Given the description of an element on the screen output the (x, y) to click on. 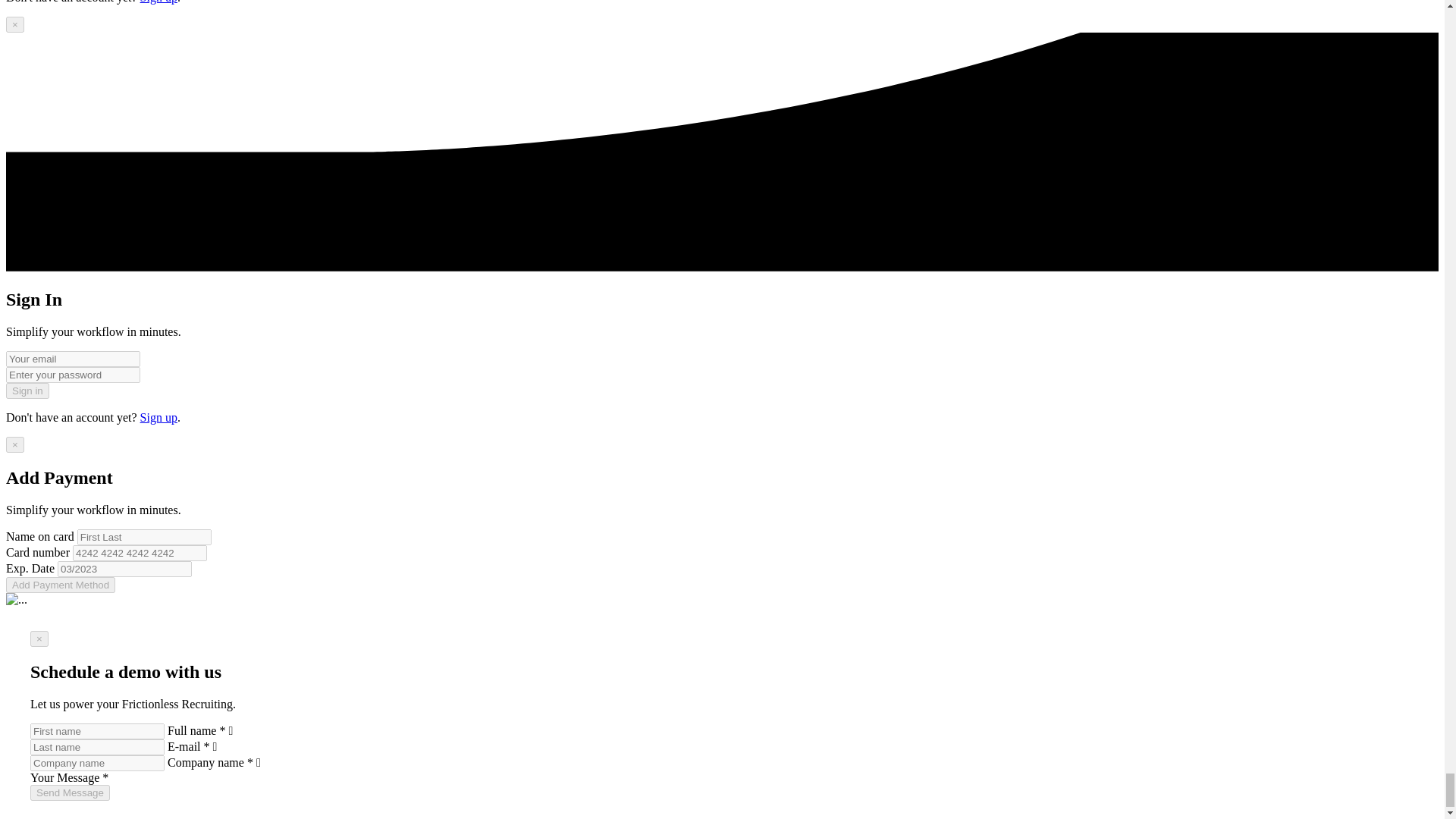
Sign up (158, 2)
Sign up (158, 417)
Send Message (70, 792)
Sign in (27, 390)
Add Payment Method (60, 584)
